Given the description of an element on the screen output the (x, y) to click on. 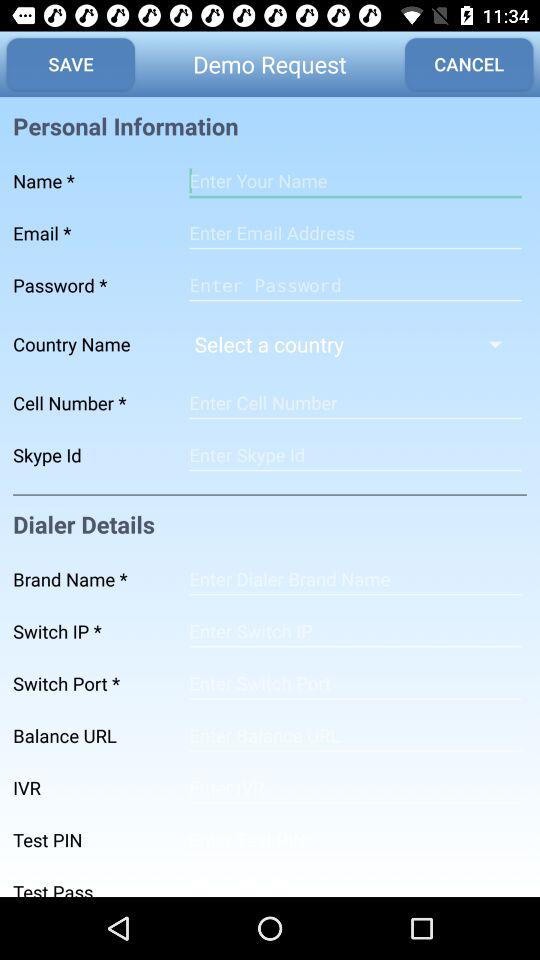
enter the number type page (355, 683)
